Given the description of an element on the screen output the (x, y) to click on. 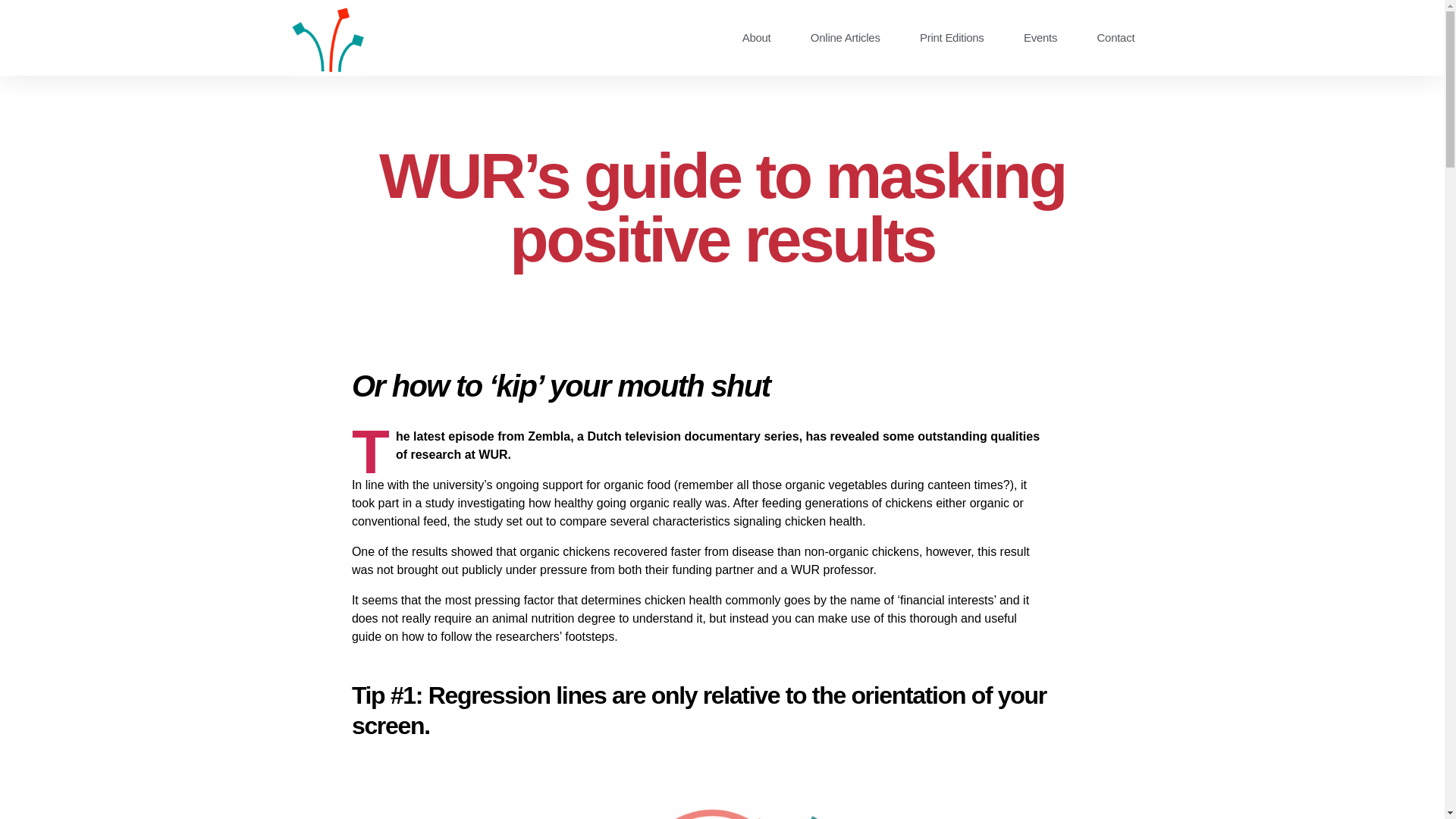
About (756, 38)
Print Editions (951, 38)
Online Articles (844, 38)
Events (1040, 38)
Contact (1115, 38)
